Given the description of an element on the screen output the (x, y) to click on. 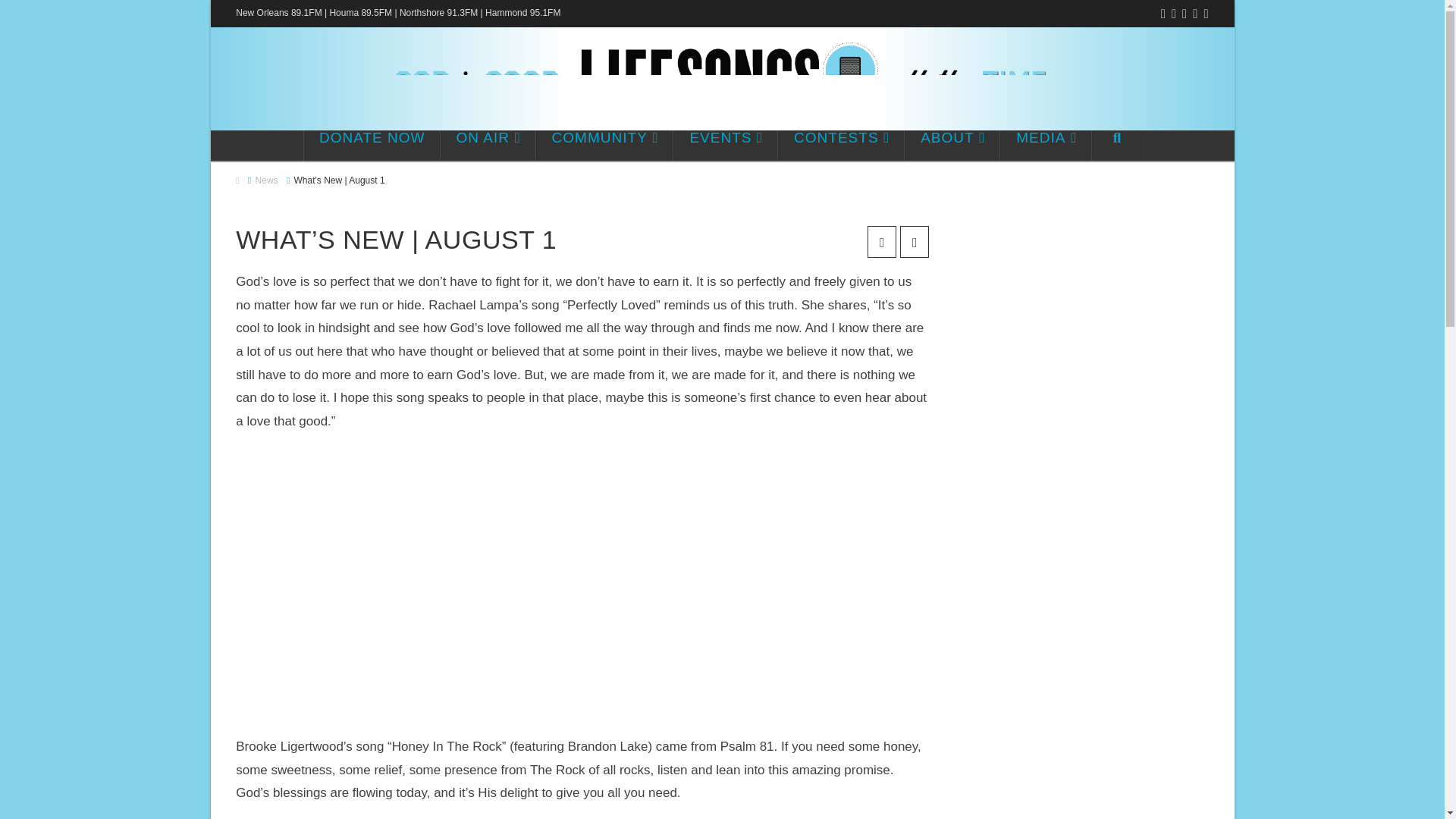
EVENTS (724, 145)
DONATE NOW (371, 145)
You Are Here (339, 180)
MEDIA (1046, 145)
ON AIR (488, 145)
CONTESTS (840, 145)
COMMUNITY (604, 145)
ABOUT (952, 145)
